Given the description of an element on the screen output the (x, y) to click on. 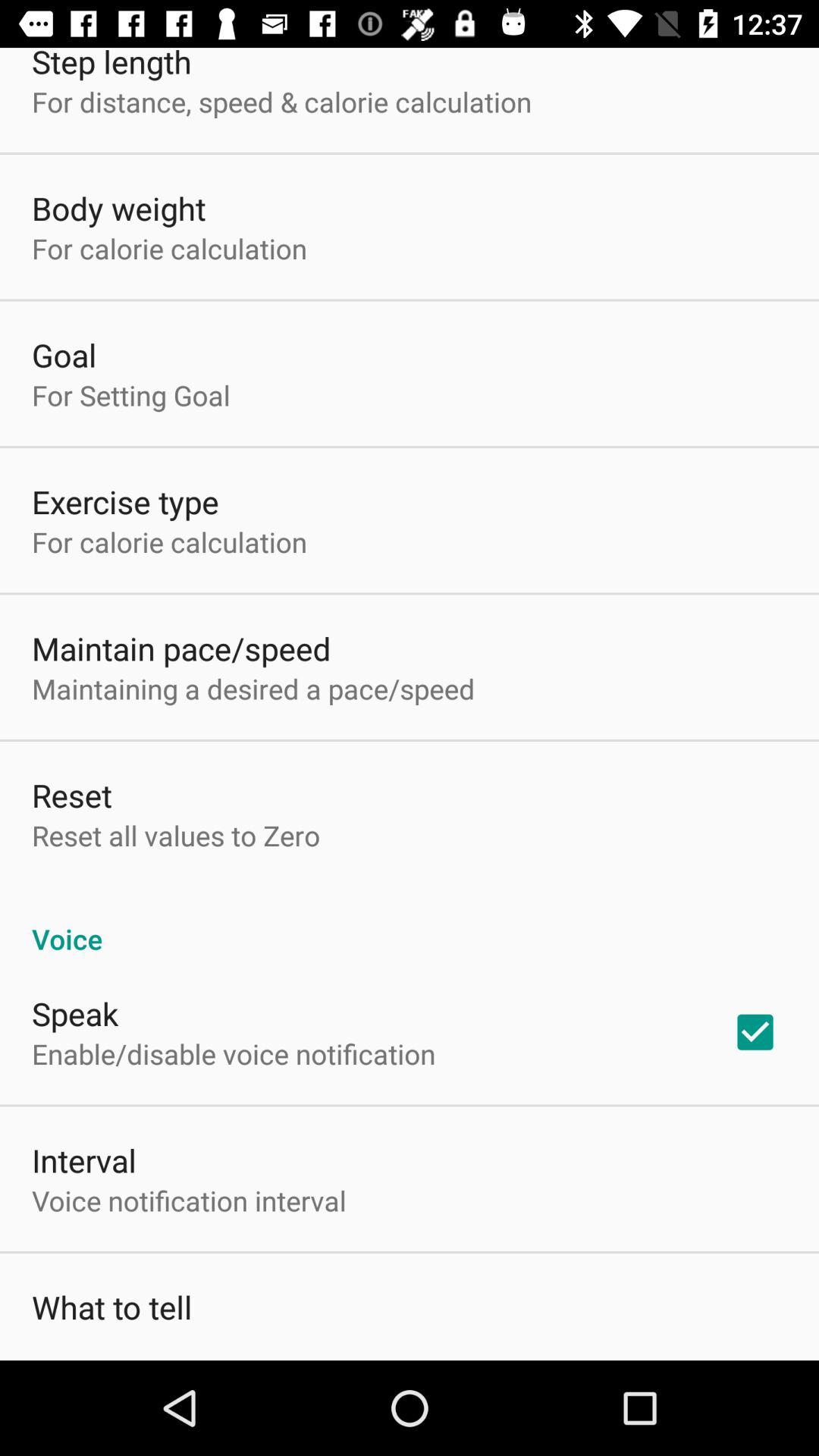
launch app below goal icon (130, 395)
